Given the description of an element on the screen output the (x, y) to click on. 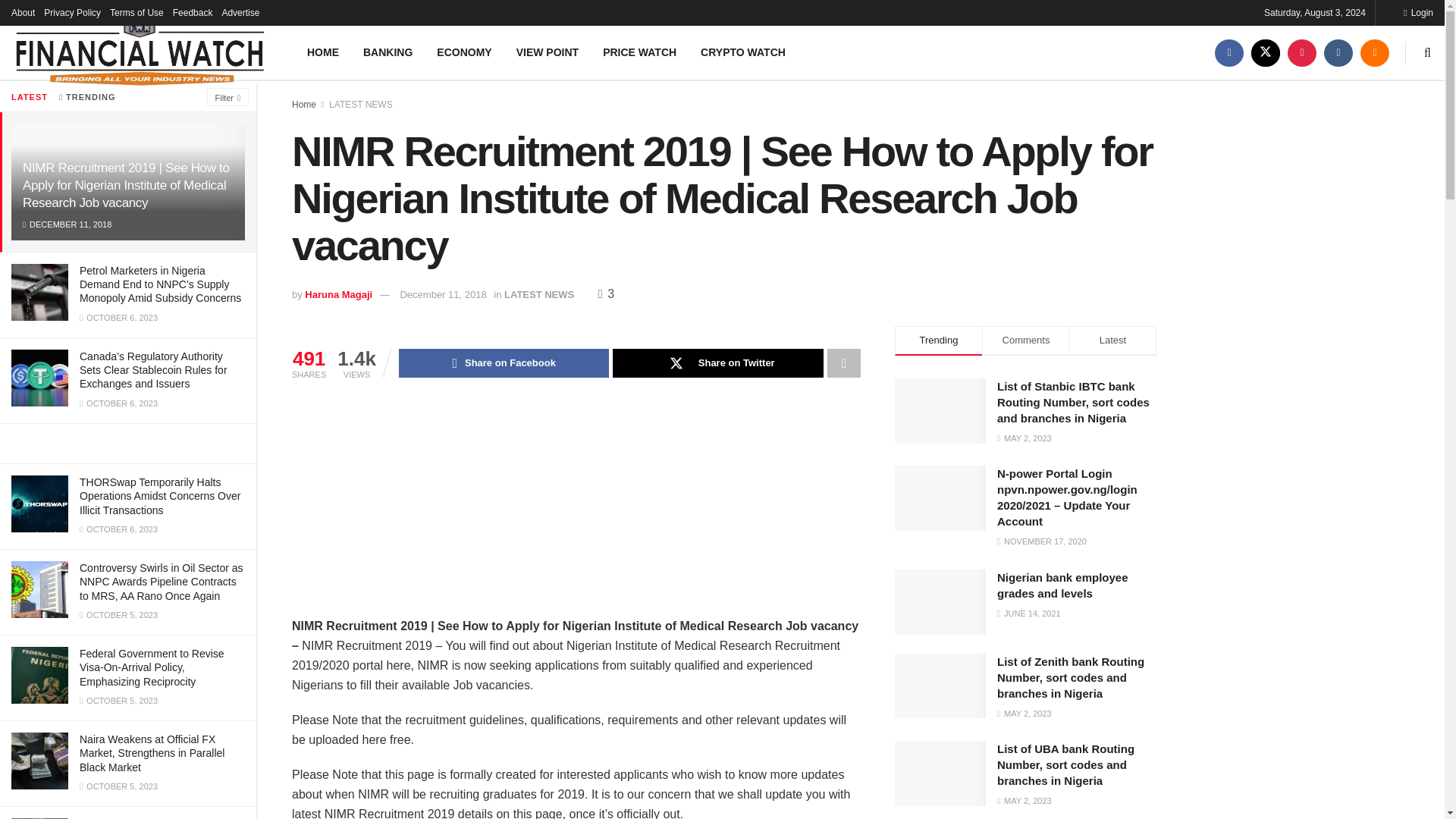
Filter (227, 96)
